Given the description of an element on the screen output the (x, y) to click on. 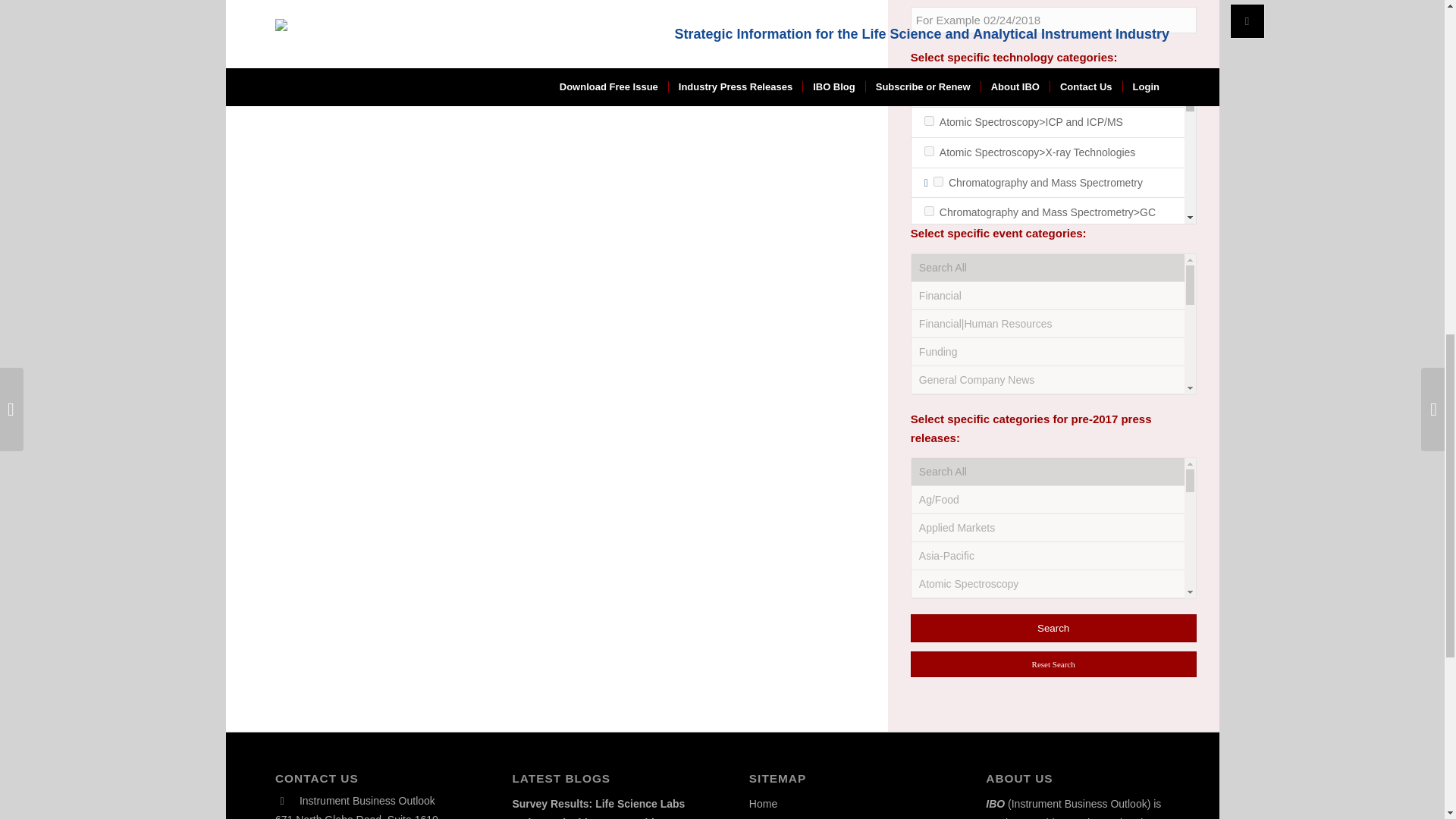
general-laboratory-productsconsumables (929, 546)
chromatography-and-mass-spectrometryother-chromatography (929, 369)
atomic-spectroscopyicp-and-icp-ms (929, 121)
chromatography-and-mass-spectrometrygc (929, 211)
general-laboratory-productsconsumableslife-sciencegene-based (929, 711)
